Given the description of an element on the screen output the (x, y) to click on. 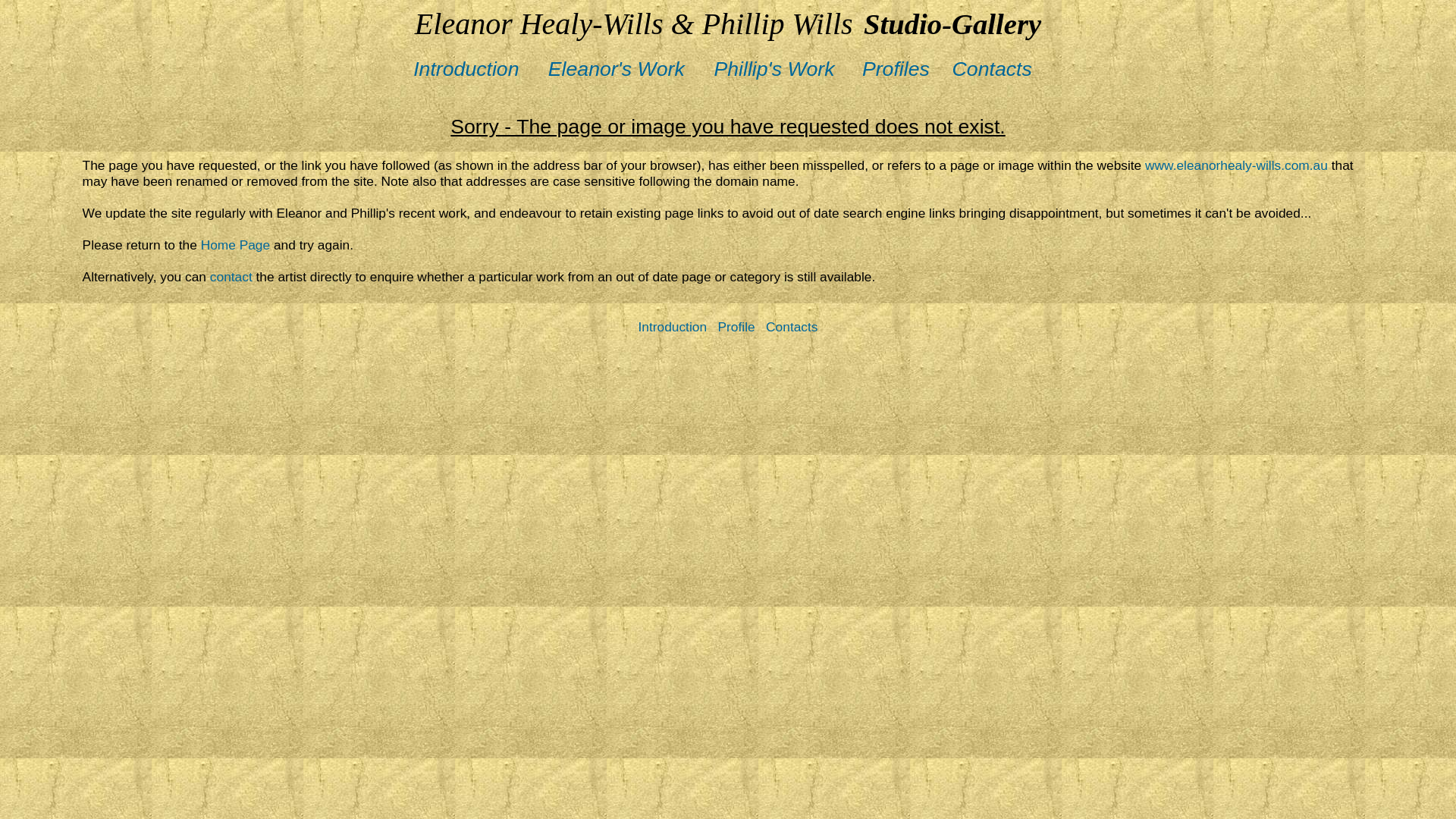
Contacts   Element type: text (997, 70)
Contacts Element type: text (791, 326)
Eleanor's Work     Element type: text (627, 70)
Home Page Element type: text (235, 244)
Phillip's Work     Element type: text (784, 70)
Introduction     Element type: text (477, 70)
Profiles   Element type: text (901, 70)
Profile Element type: text (736, 326)
contact Element type: text (231, 276)
Introduction Element type: text (672, 326)
www.eleanorhealy-wills.com.au Element type: text (1236, 164)
